Given the description of an element on the screen output the (x, y) to click on. 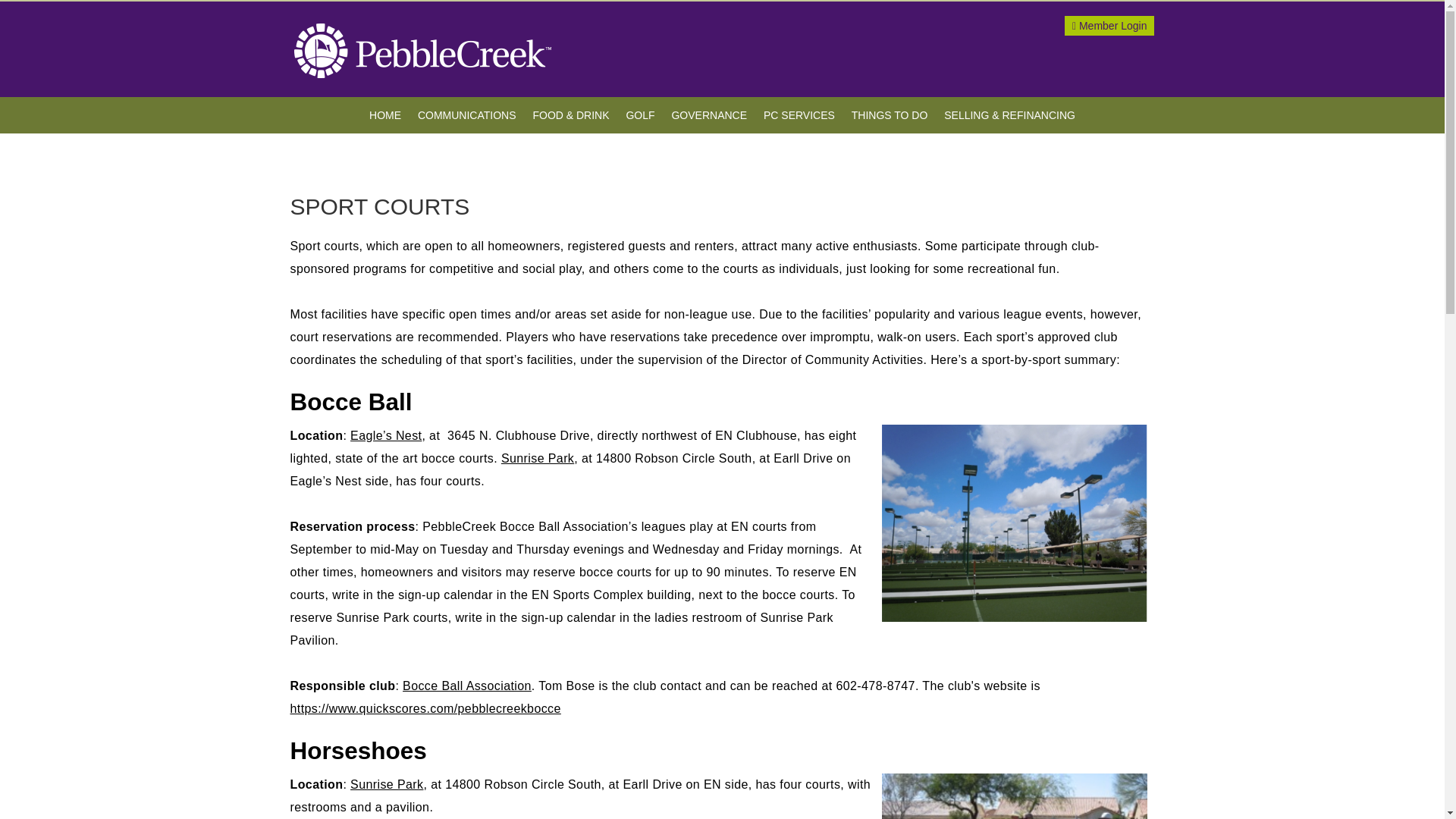
Welcome To Our Site (1109, 25)
Go to PebbleCreek Homeowner Association (421, 50)
